Given the description of an element on the screen output the (x, y) to click on. 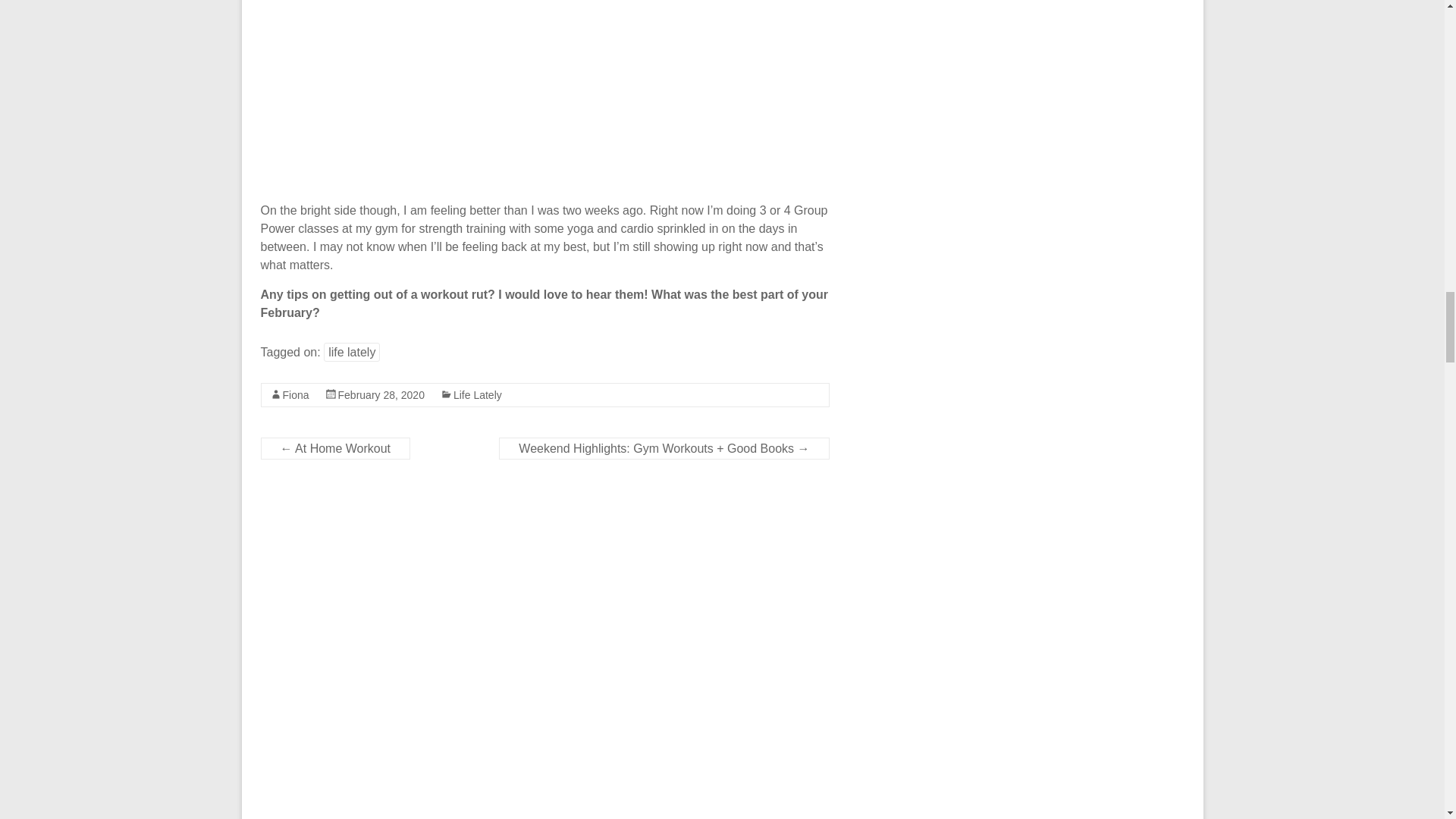
Fiona (295, 395)
4:00 am (381, 395)
life lately (351, 352)
February 28, 2020 (381, 395)
Life Lately (477, 395)
